Given the description of an element on the screen output the (x, y) to click on. 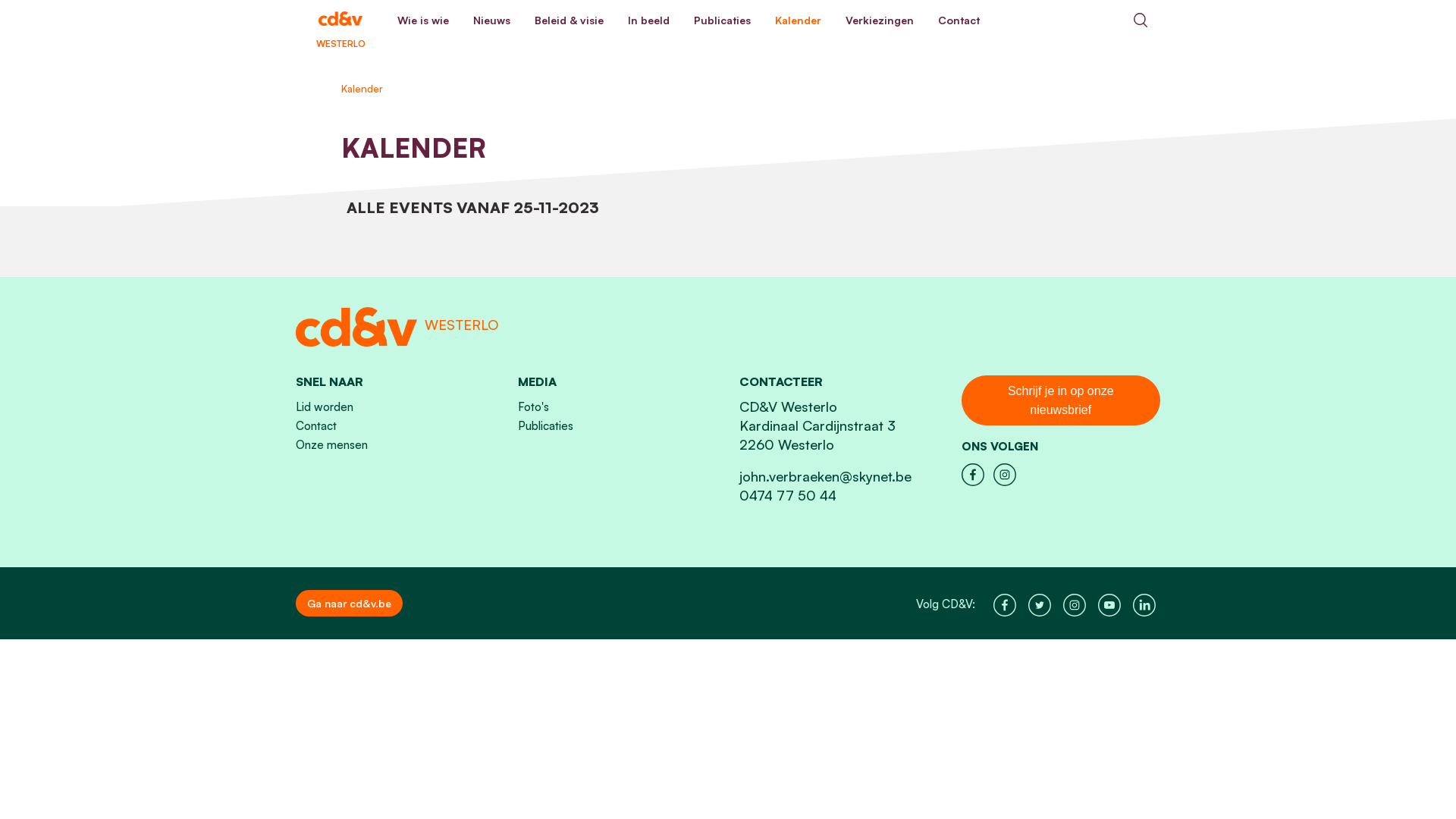
Verkiezingen Element type: text (879, 20)
Kalender Element type: text (797, 20)
Contact Element type: text (315, 425)
WESTERLO Element type: text (340, 19)
Onze mensen Element type: text (331, 444)
john.verbraeken@skynet.be Element type: text (825, 475)
Contact Element type: text (958, 20)
Beleid & visie Element type: text (568, 20)
Foto's Element type: text (532, 406)
Schrijf je in op onze nieuwsbrief Element type: text (1061, 400)
Wie is wie Element type: text (423, 20)
Publicaties Element type: text (544, 425)
Publicaties Element type: text (721, 20)
Lid worden Element type: text (324, 406)
Nieuws Element type: text (491, 20)
In beeld Element type: text (648, 20)
Ga naar cd&v.be Element type: text (348, 602)
Search Element type: hover (1140, 19)
